Given the description of an element on the screen output the (x, y) to click on. 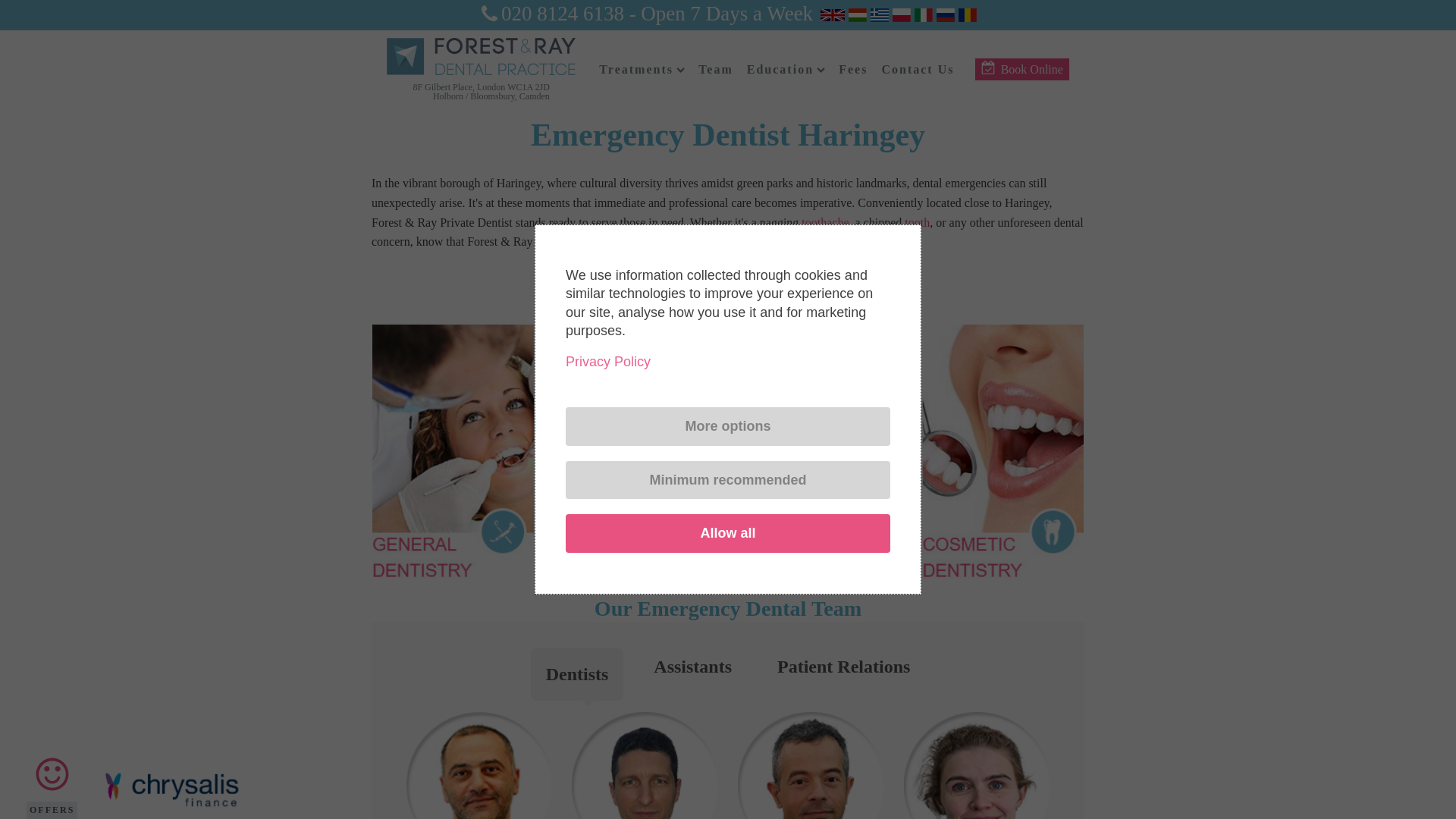
Treatments (641, 69)
Odontodynia (825, 222)
020 8124 6138 - Open 7 Days a Week (645, 15)
Human dentition (917, 222)
